Given the description of an element on the screen output the (x, y) to click on. 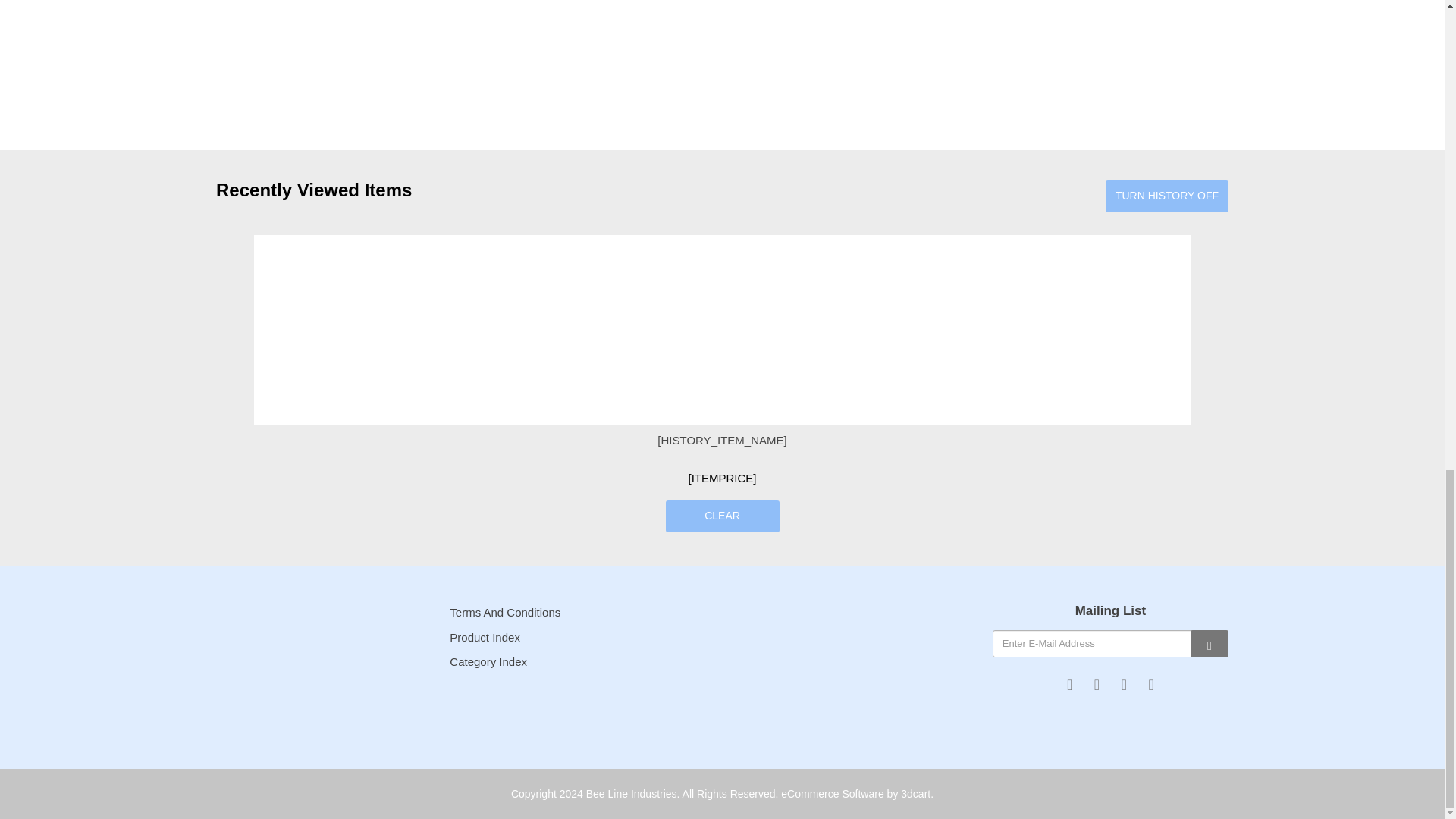
Follow Us on Twitter (1096, 684)
Follow Us on Pinterest (1123, 684)
Like Us on Facebook (1069, 684)
Follow Us on Instagram (1150, 684)
